Given the description of an element on the screen output the (x, y) to click on. 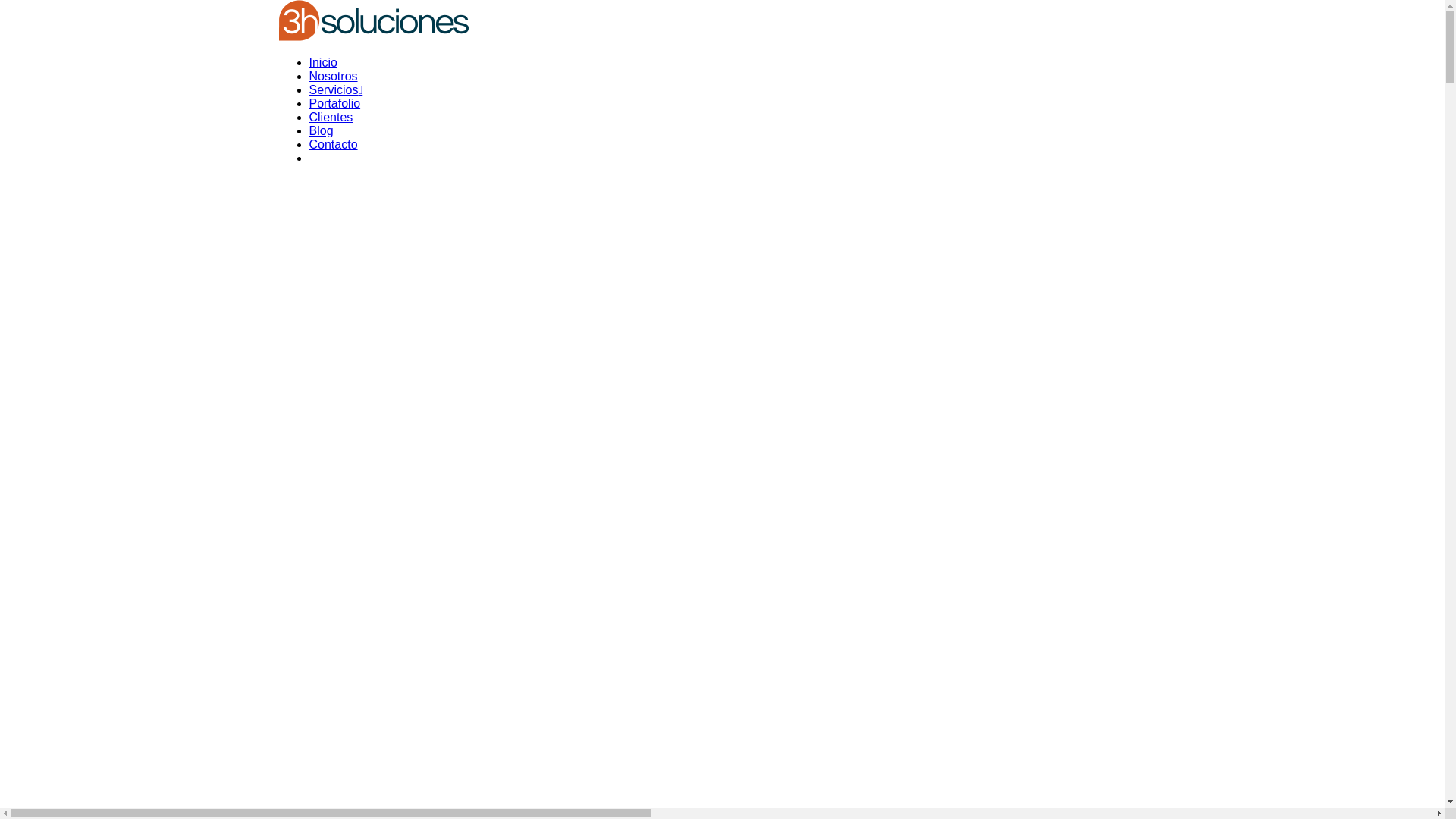
Nosotros Element type: text (333, 75)
Portafolio Element type: text (334, 103)
Contacto Element type: text (333, 144)
Blog Element type: text (321, 130)
Inicio Element type: text (323, 62)
Clientes Element type: text (331, 116)
